Given the description of an element on the screen output the (x, y) to click on. 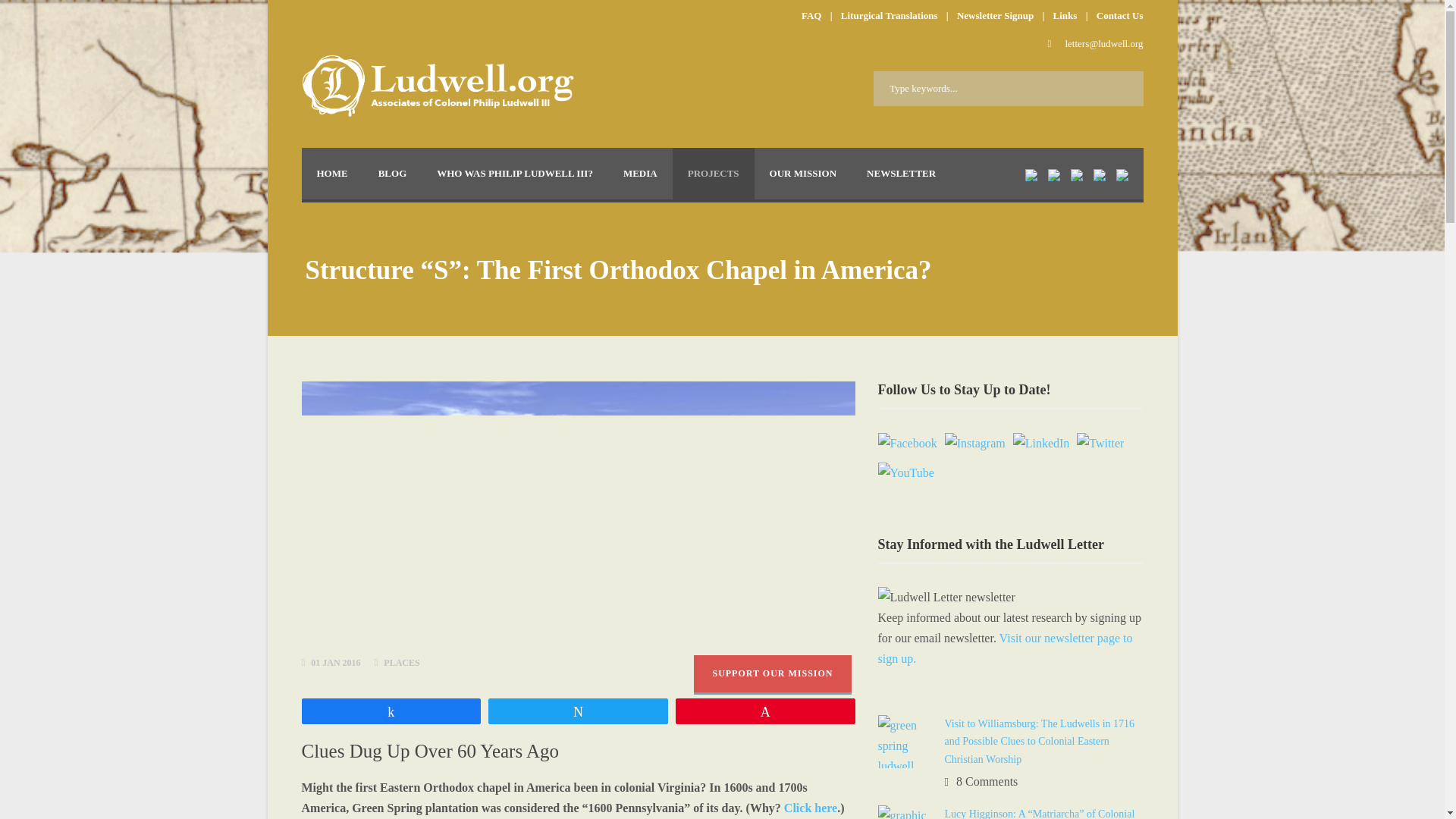
Links (1064, 15)
BLOG (392, 173)
Facebook (907, 443)
LinkedIn (1041, 443)
Type keywords... (1007, 88)
Liturgical Translations (889, 15)
HOME (331, 173)
Twitter (1100, 443)
WHO WAS PHILIP LUDWELL III? (515, 173)
YouTube (905, 472)
